Given the description of an element on the screen output the (x, y) to click on. 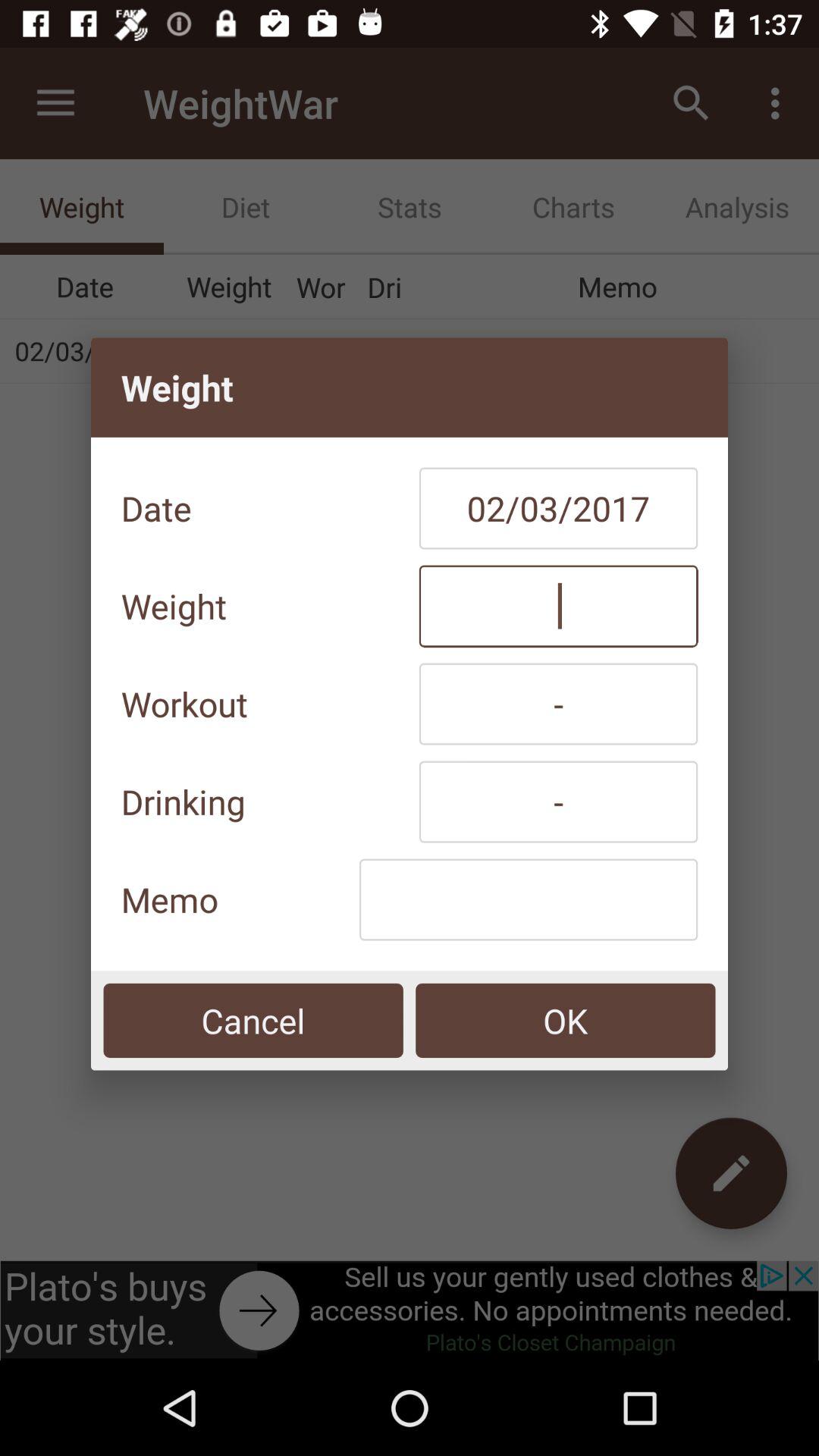
turn on icon next to the drinking (558, 801)
